Given the description of an element on the screen output the (x, y) to click on. 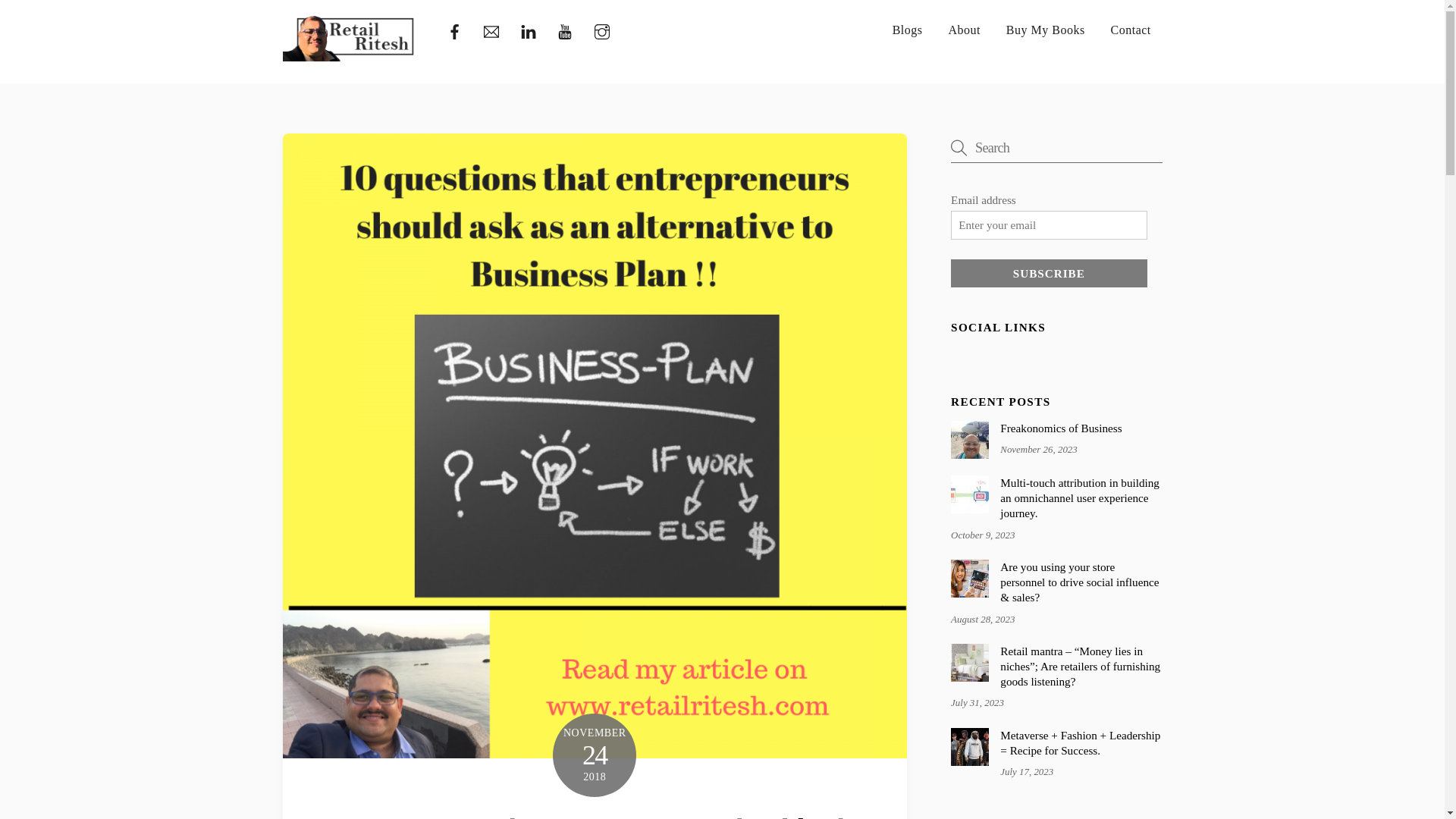
container-store-dorm.jpeg (969, 662)
retail ritesh (348, 38)
Subscribe (1048, 273)
Search (1055, 147)
meta verse (969, 746)
Simplifying retail (348, 54)
MTA (969, 494)
Contact (1131, 30)
About (964, 30)
Buy My Books (1045, 30)
